Given the description of an element on the screen output the (x, y) to click on. 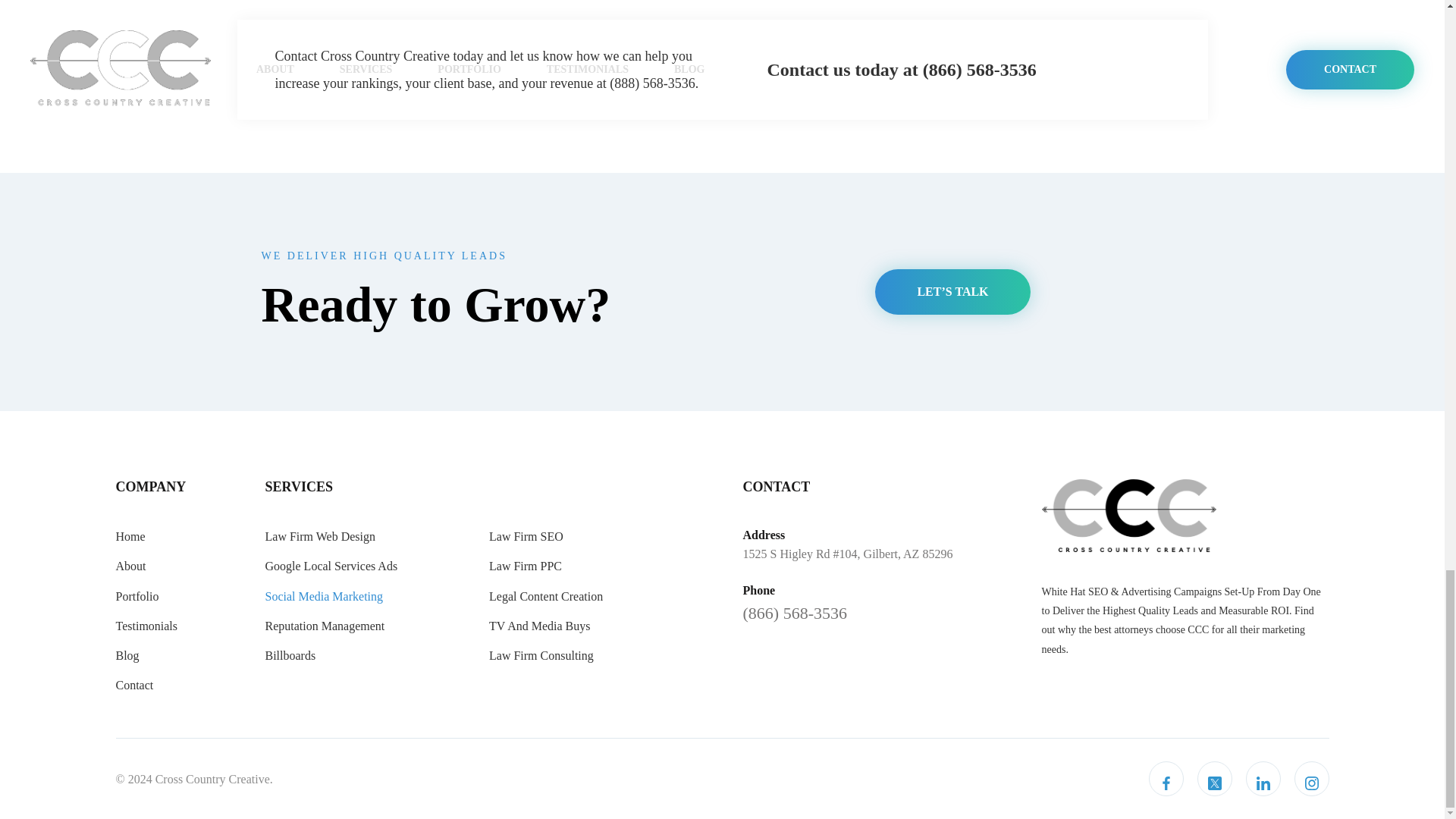
Blog (126, 655)
About (130, 565)
Google Local Services Ads (330, 565)
Home (129, 536)
TV And Media Buys (539, 626)
Law Firm Consulting (541, 655)
Legal Content Creation (545, 595)
Law Firm SEO (526, 536)
Testimonials (146, 626)
Law Firm Web Design (319, 536)
Billboards (289, 655)
Social Media Marketing (324, 595)
Portfolio (136, 595)
Contact (133, 685)
Law Firm PPC (525, 565)
